Given the description of an element on the screen output the (x, y) to click on. 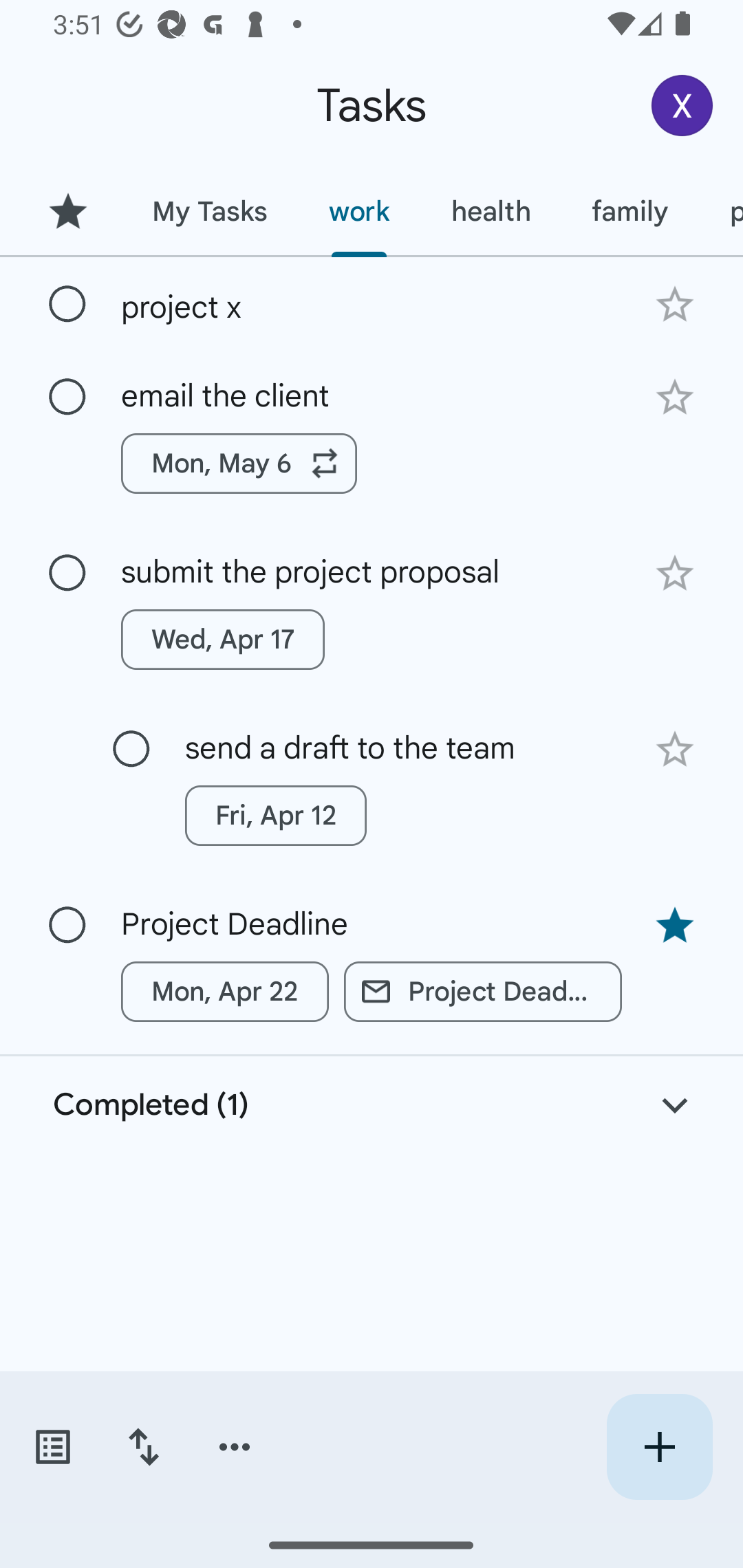
Starred (67, 211)
My Tasks (209, 211)
health (490, 211)
family (629, 211)
project x project x Add star Mark as complete (371, 303)
Add star (674, 303)
Mark as complete (67, 304)
Add star (674, 397)
Mark as complete (67, 397)
Mon, May 6 (239, 463)
Add star (674, 573)
Mark as complete (67, 572)
Wed, Apr 17 (222, 639)
Add star (674, 749)
Mark as complete (131, 750)
Fri, Apr 12 (276, 814)
Remove star (674, 924)
Mark as complete (67, 925)
Mon, Apr 22 (225, 991)
Project Deadline Related link (482, 991)
Completed (1) (371, 1105)
Switch task lists (52, 1447)
Create new task (659, 1446)
Change sort order (143, 1446)
More options (234, 1446)
